Given the description of an element on the screen output the (x, y) to click on. 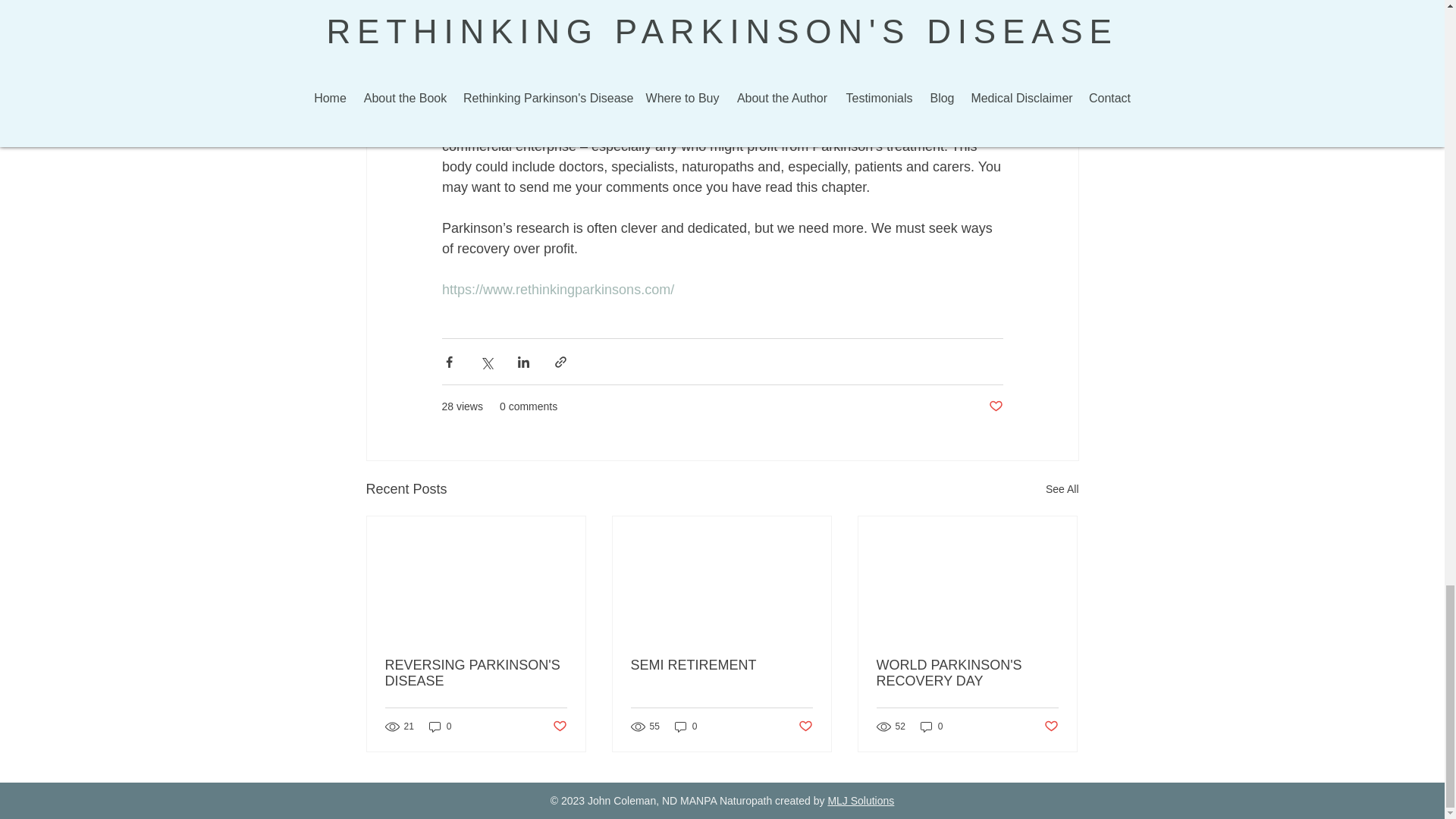
Post not marked as liked (804, 726)
Post not marked as liked (995, 406)
Post not marked as liked (1050, 726)
REVERSING PARKINSON'S DISEASE (476, 673)
MLJ Solutions (860, 800)
0 (440, 726)
SEMI RETIREMENT (721, 665)
0 (685, 726)
See All (1061, 489)
Post not marked as liked (558, 726)
